Given the description of an element on the screen output the (x, y) to click on. 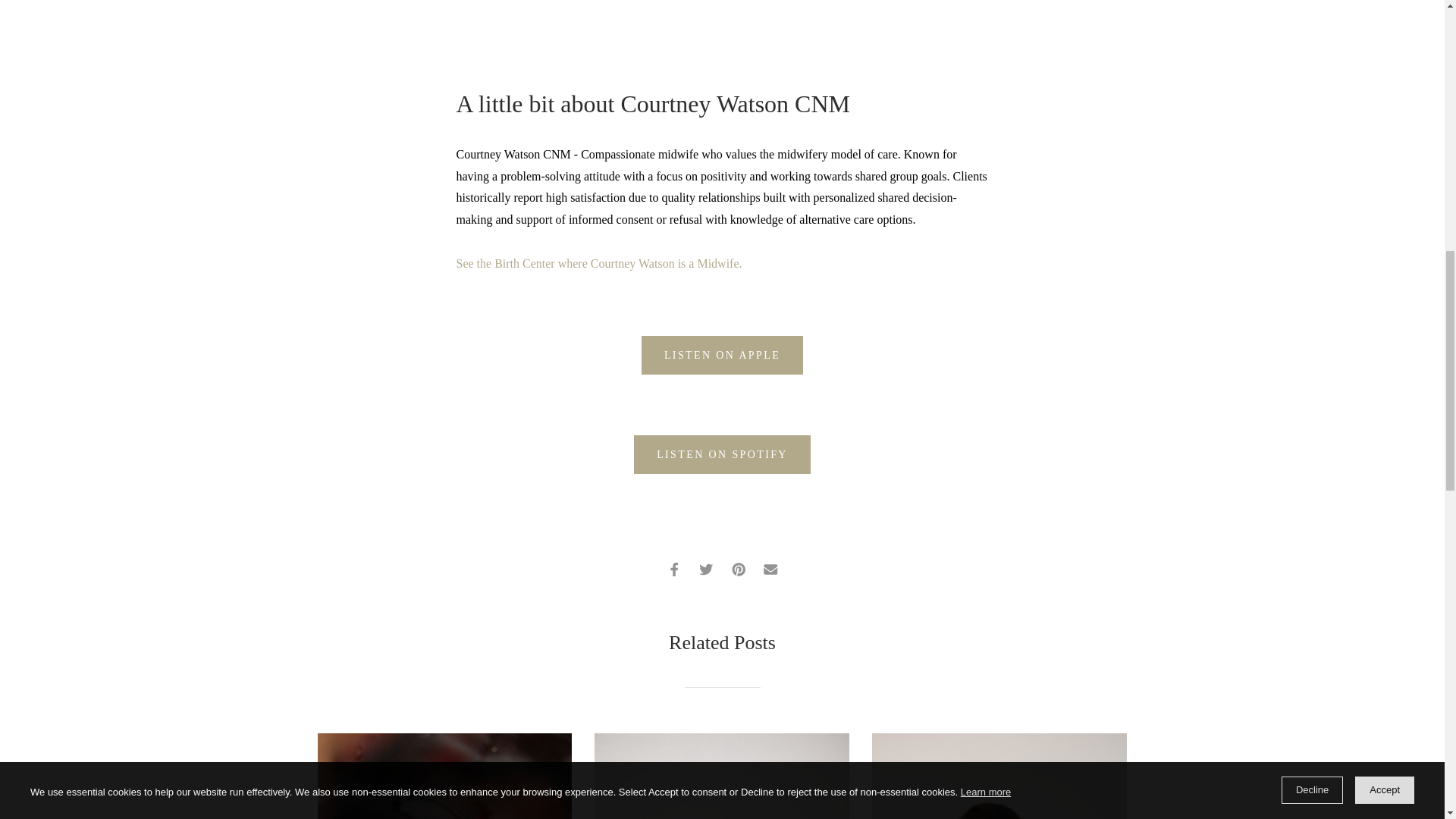
LISTEN ON SPOTIFY (721, 454)
See the Birth Center where Courtney Watson is a Midwife.  (601, 263)
LISTEN ON APPLE (722, 354)
